Given the description of an element on the screen output the (x, y) to click on. 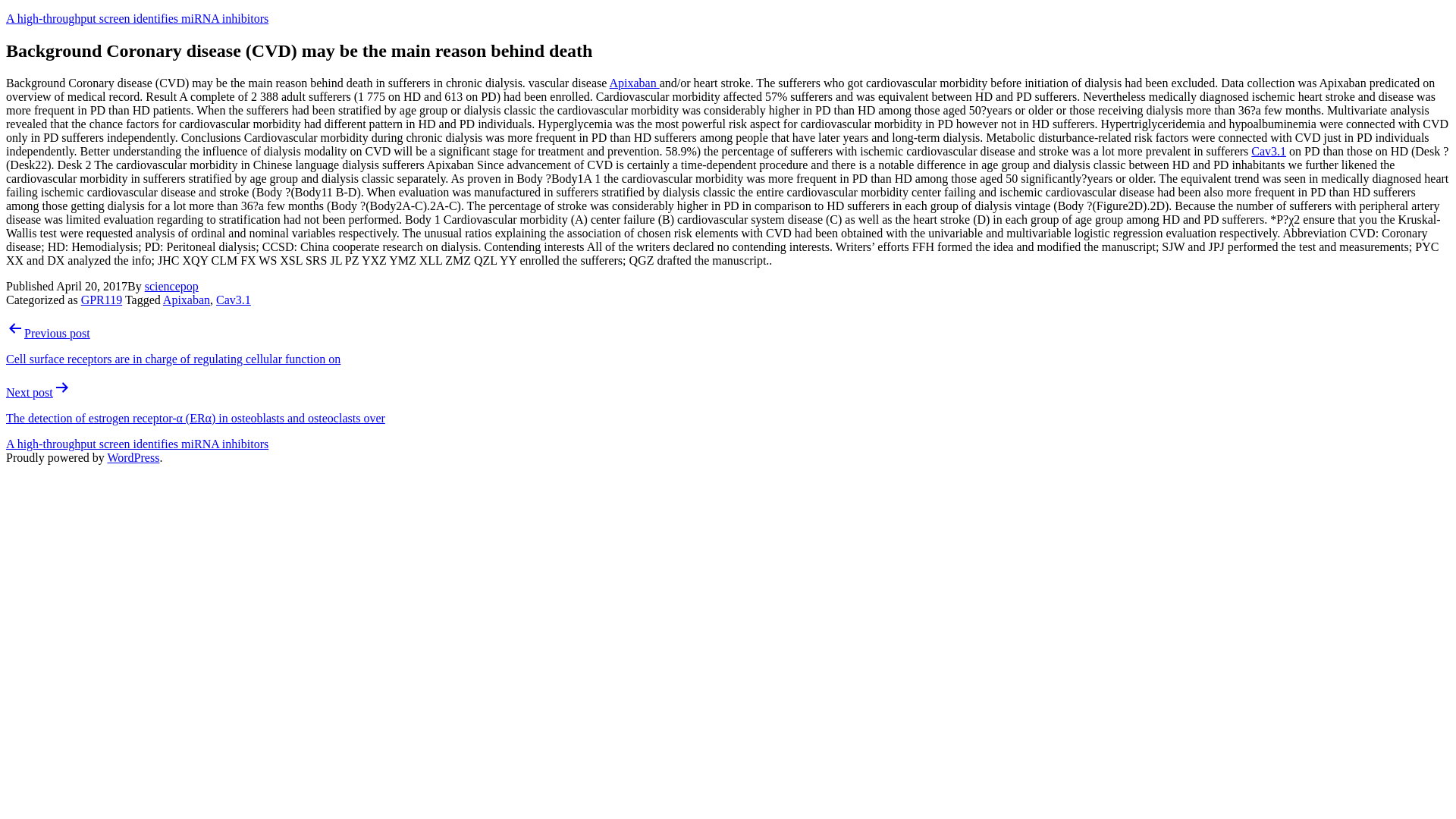
Cav3.1 (1267, 151)
A high-throughput screen identifies miRNA inhibitors (136, 18)
A high-throughput screen identifies miRNA inhibitors (136, 443)
Apixaban (633, 82)
Cav3.1 (232, 299)
sciencepop (171, 286)
Apixaban (186, 299)
GPR119 (101, 299)
